Given the description of an element on the screen output the (x, y) to click on. 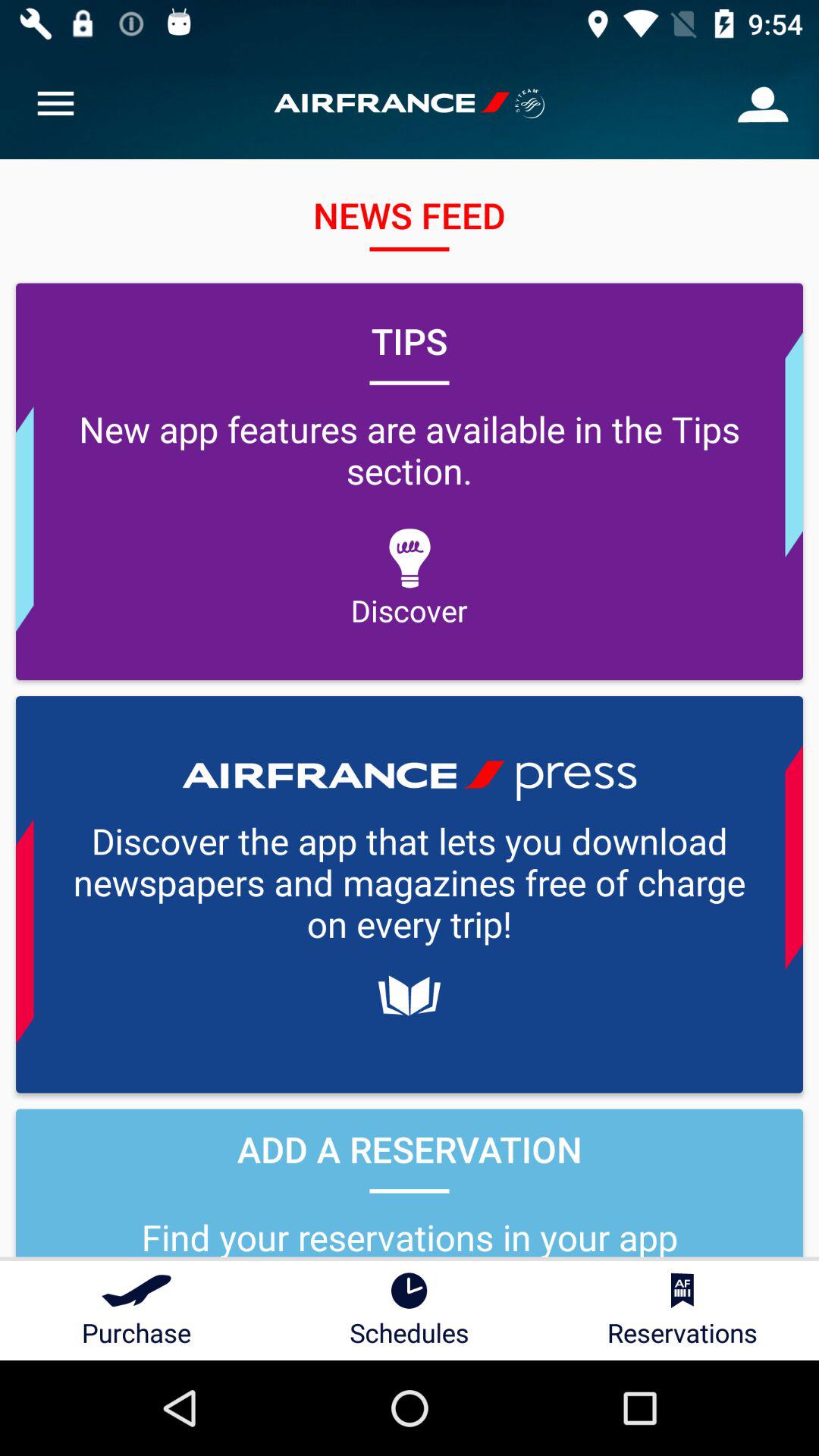
jump until the purchase item (136, 1310)
